Given the description of an element on the screen output the (x, y) to click on. 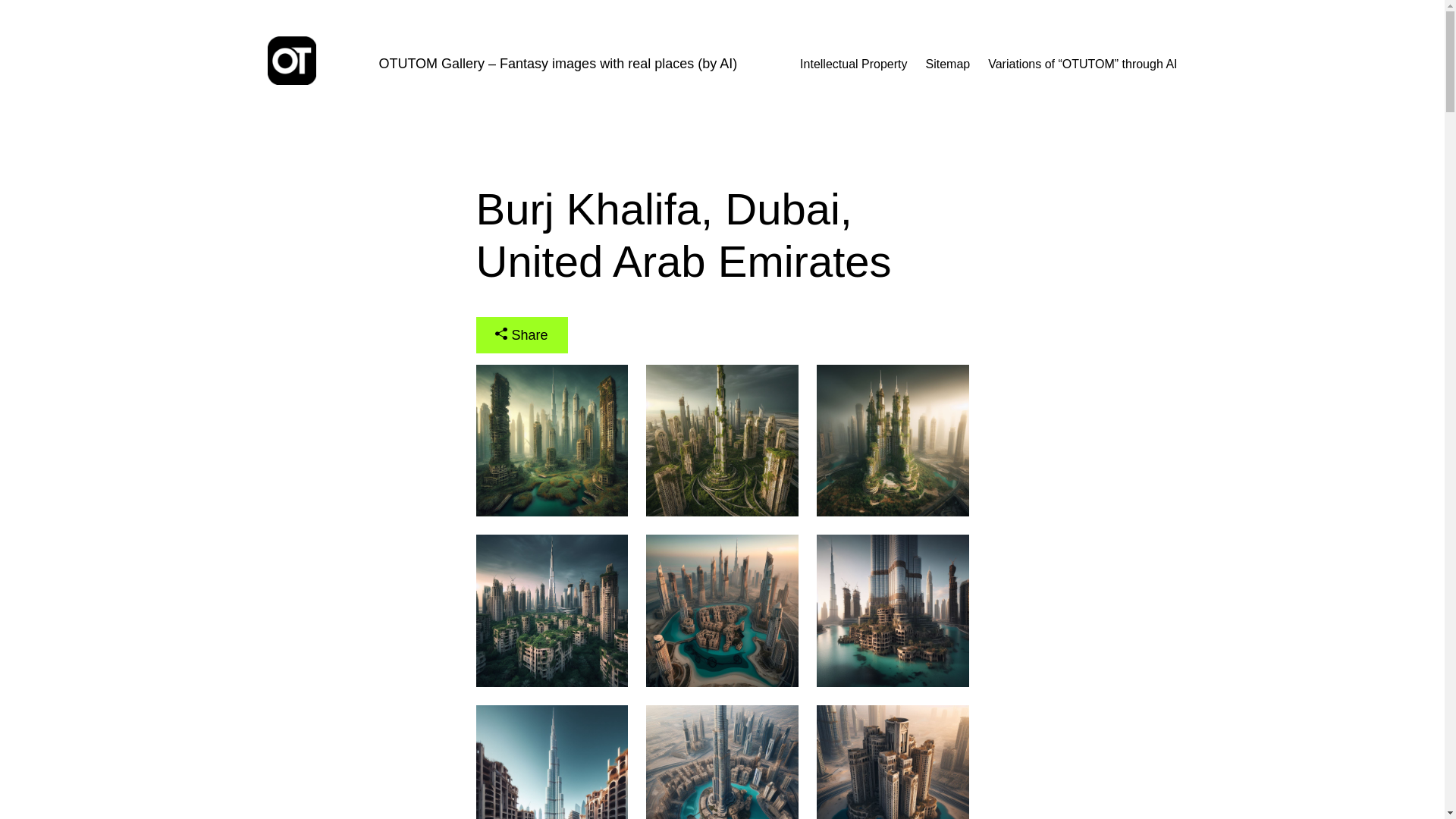
Sitemap (948, 64)
Share (521, 334)
Intellectual Property (853, 64)
